Given the description of an element on the screen output the (x, y) to click on. 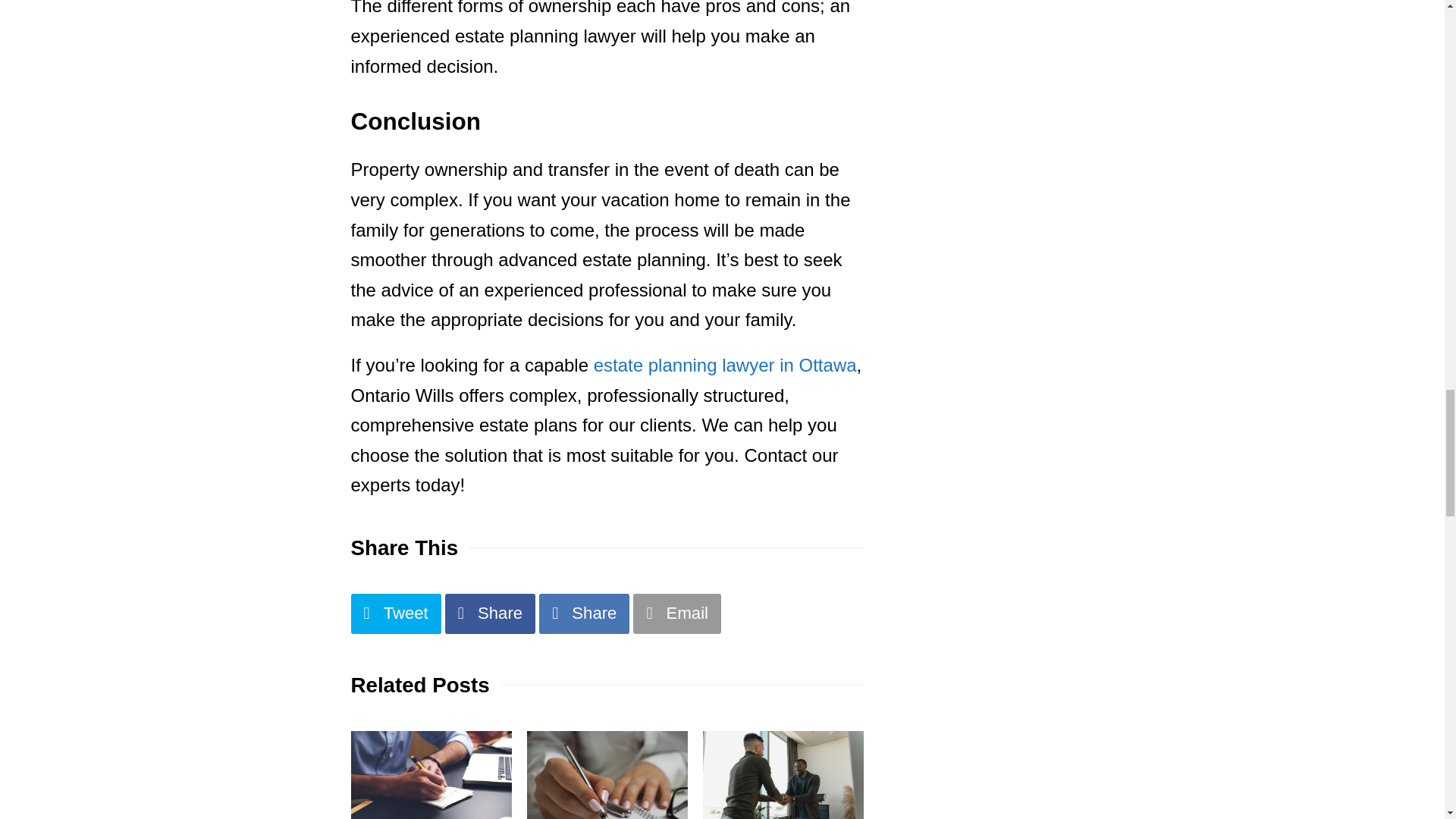
Things to Avoid Writing Down on Your Will At All Costs (430, 775)
4 Qualities Clients Should Find in a Good Probate Lawyer (783, 775)
